Given the description of an element on the screen output the (x, y) to click on. 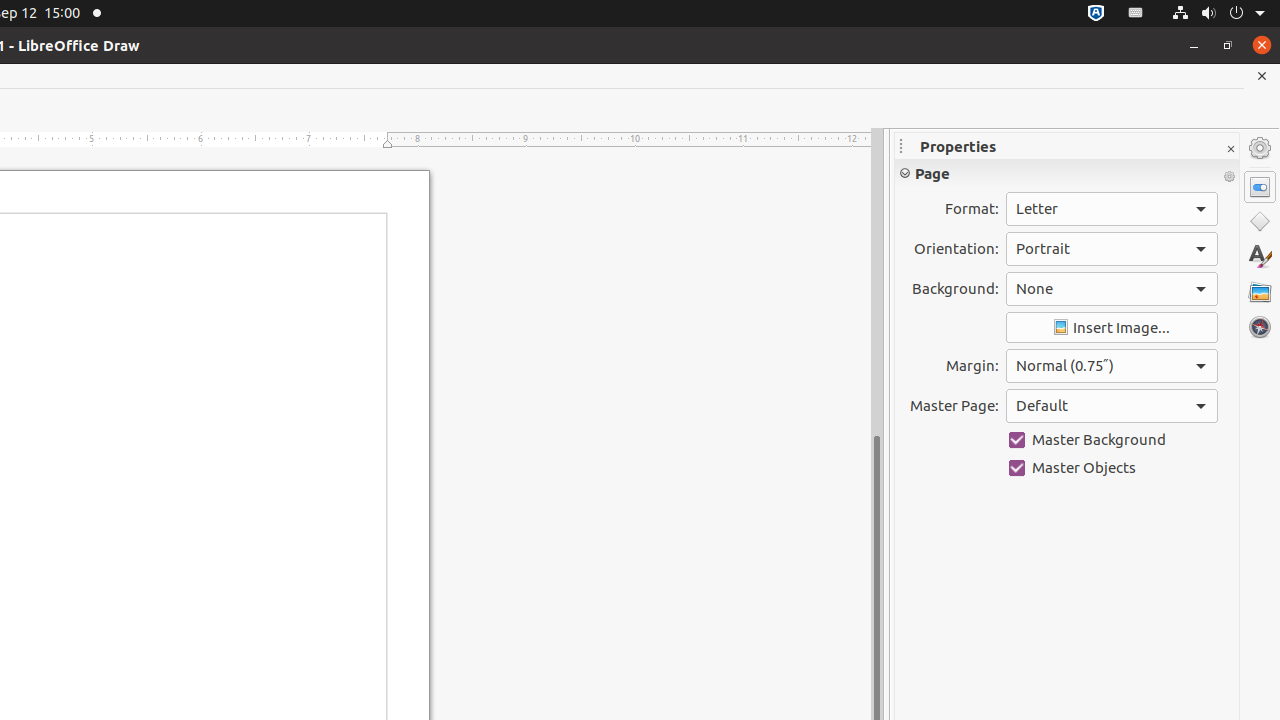
Properties Element type: radio-button (1260, 187)
Shapes Element type: radio-button (1260, 222)
Background: Element type: combo-box (1112, 289)
Close Sidebar Deck Element type: push-button (1230, 149)
Master Objects Element type: check-box (1112, 468)
